Given the description of an element on the screen output the (x, y) to click on. 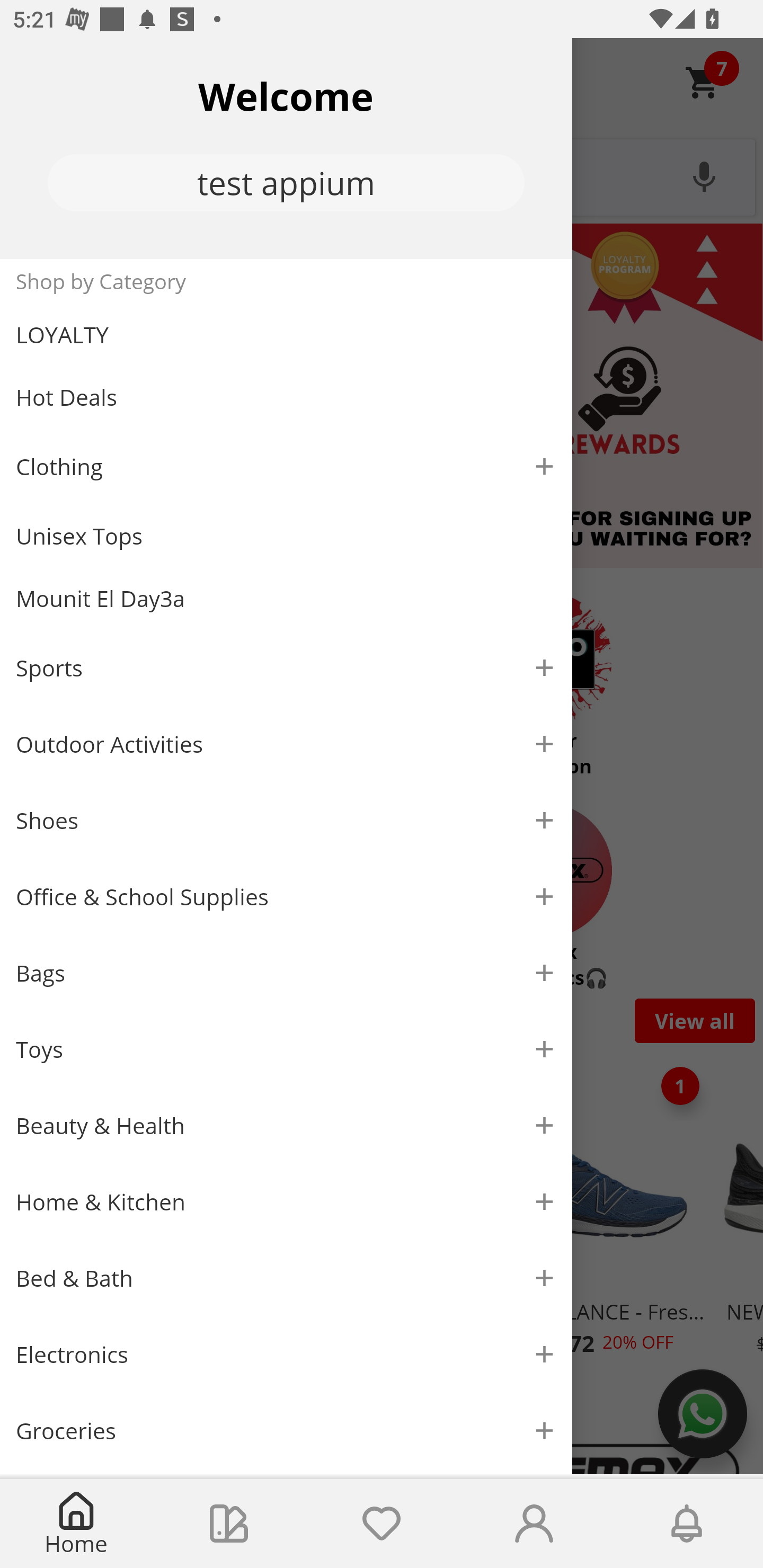
Welcome test appium (286, 147)
What are you looking for? (381, 175)
LOYALTY (286, 334)
Hot Deals (286, 396)
Clothing (286, 466)
Unisex Tops (286, 535)
Mounit El Day3a (286, 598)
Sports (286, 667)
Outdoor Activities (286, 743)
Shoes (286, 820)
Office & School Supplies (286, 896)
Bags (286, 972)
Toys (286, 1049)
Beauty & Health (286, 1125)
Home & Kitchen (286, 1201)
Bed & Bath (286, 1278)
Electronics (286, 1354)
Groceries (286, 1430)
Collections (228, 1523)
Wishlist (381, 1523)
Account (533, 1523)
Notifications (686, 1523)
